Given the description of an element on the screen output the (x, y) to click on. 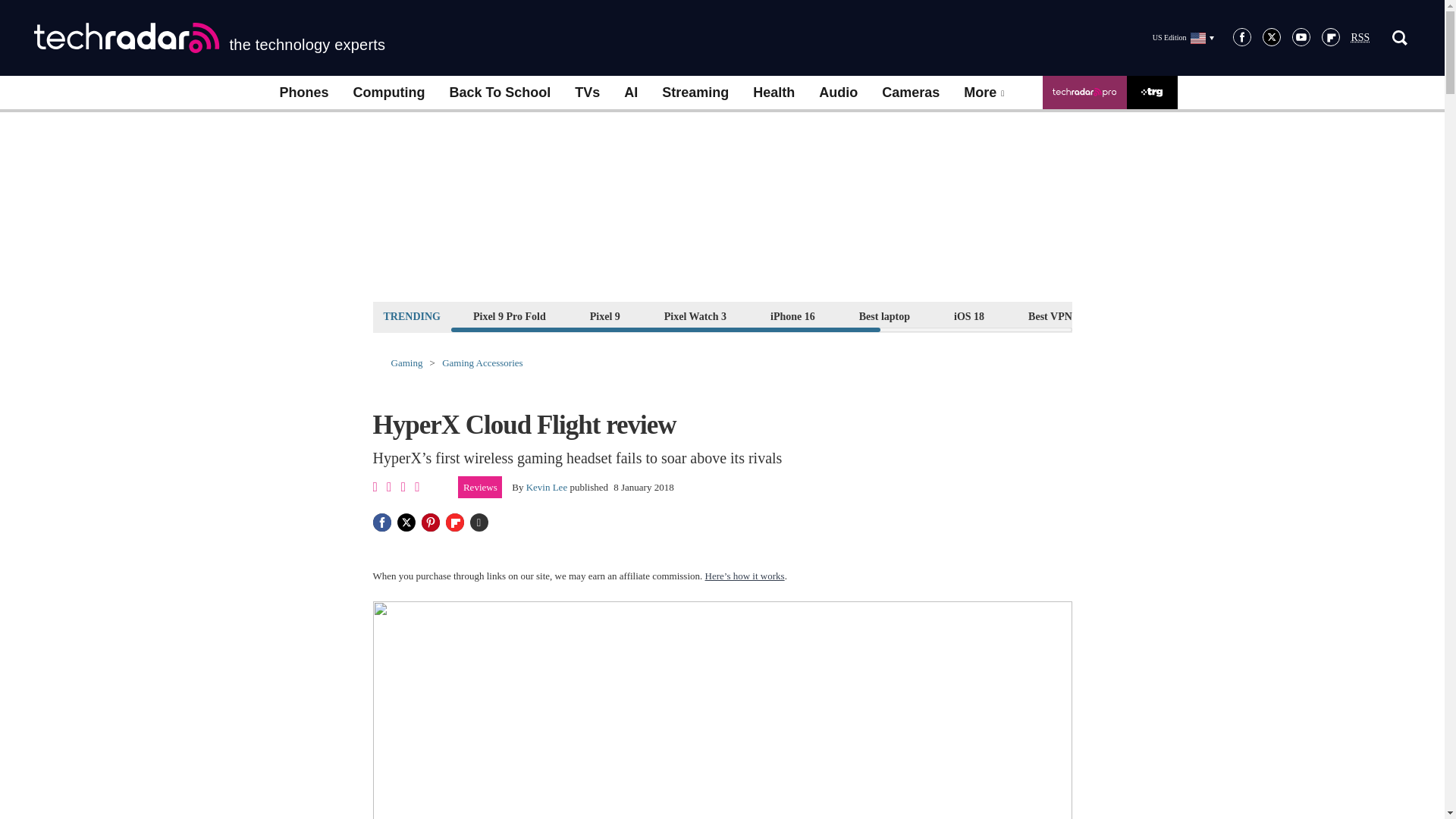
Back To School (499, 92)
the technology experts (209, 38)
TVs (586, 92)
Computing (389, 92)
US Edition (1182, 37)
Phones (303, 92)
AI (630, 92)
Streaming (695, 92)
Really Simple Syndication (1360, 37)
Cameras (910, 92)
